Given the description of an element on the screen output the (x, y) to click on. 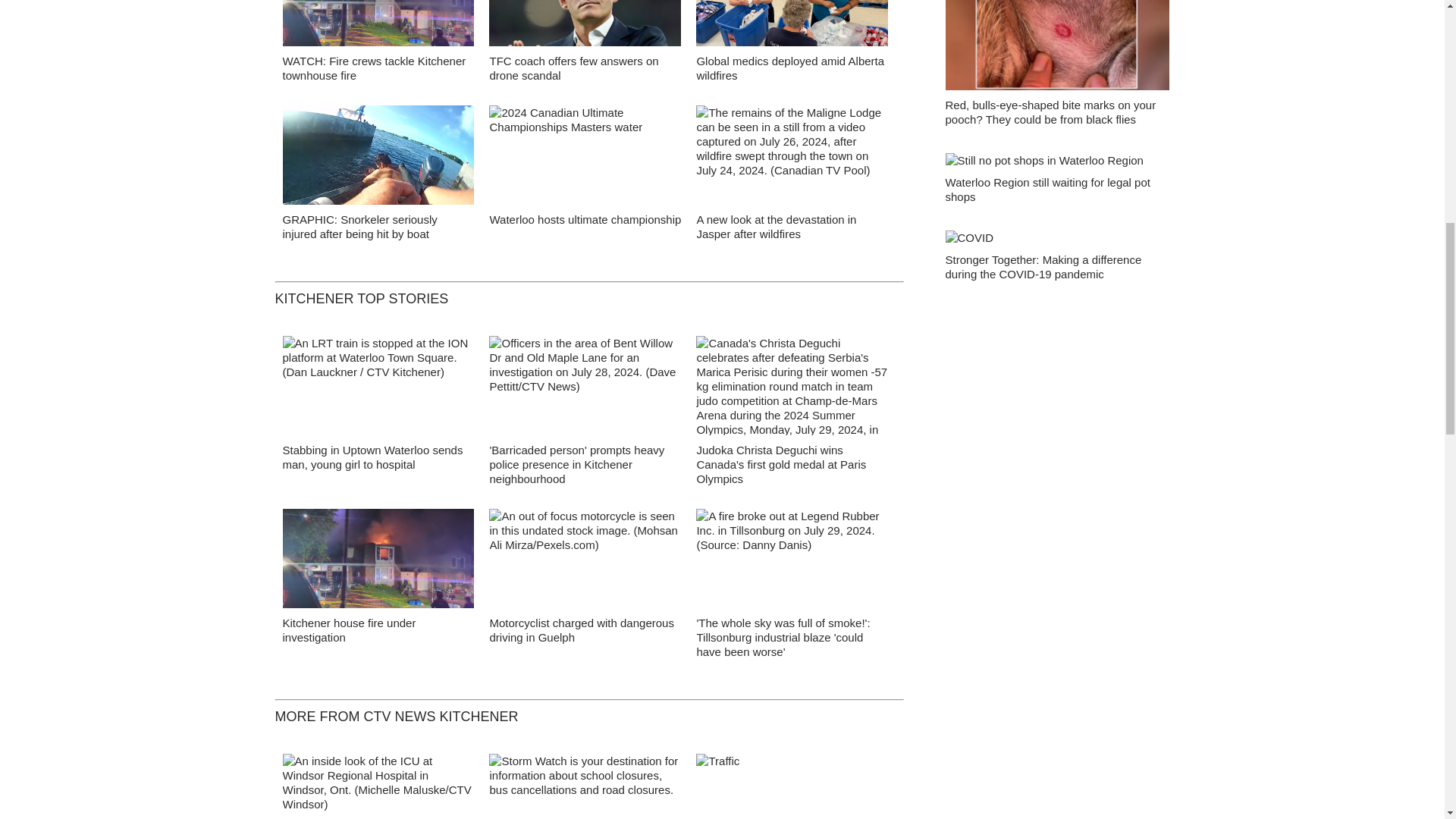
John Herdman (585, 27)
fire (378, 562)
Waterloo hosts ultimate championship (585, 219)
Christa Deguchi (791, 389)
Kitchener house fire under investigation (348, 629)
Global medics deployed amid Alberta wildfires (789, 67)
WATCH: Fire crews tackle Kitchener townhouse fire (373, 67)
A new look at the devastation in Jasper after wildfires (775, 226)
false (585, 22)
